Given the description of an element on the screen output the (x, y) to click on. 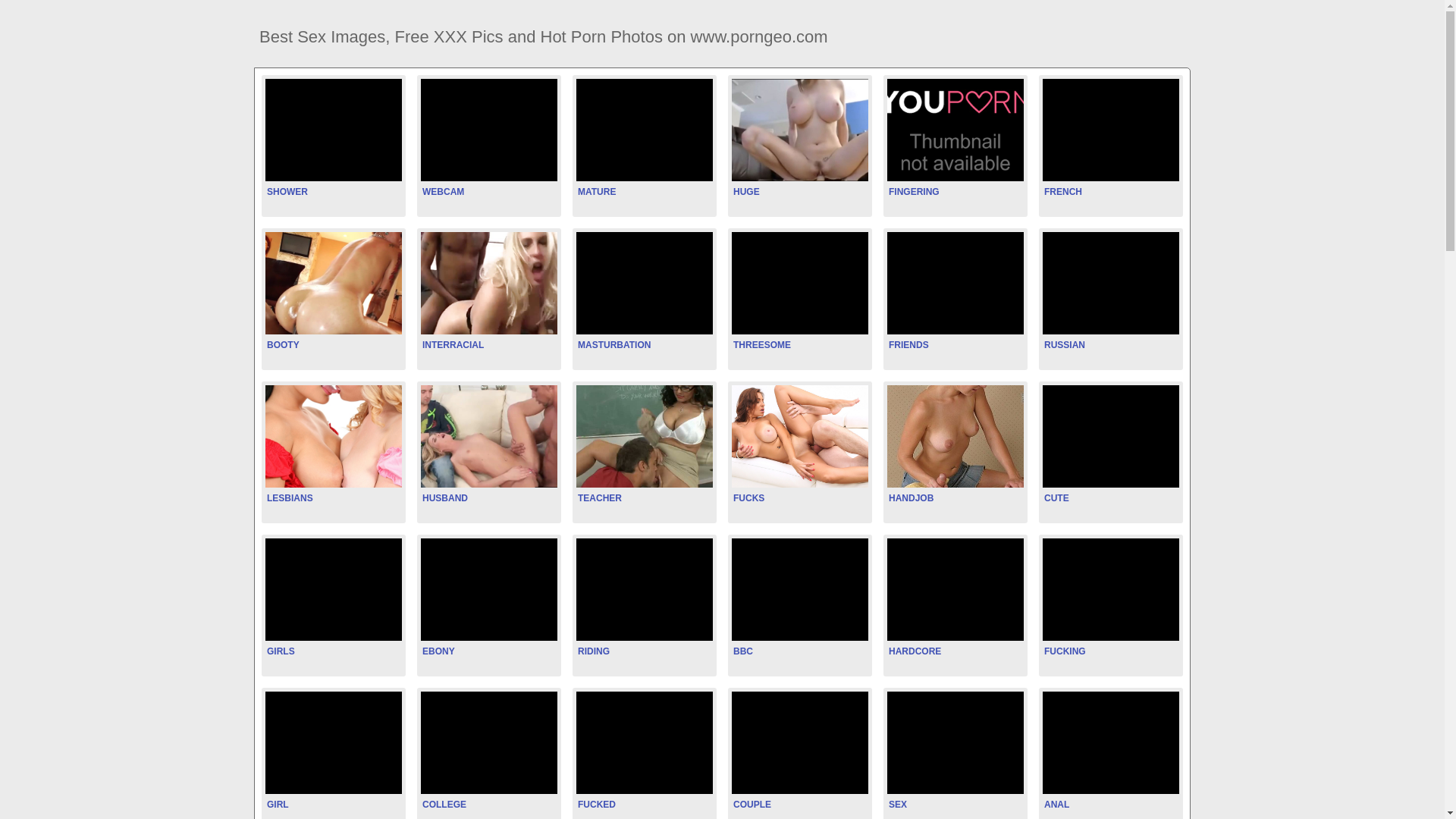
FRENCH Element type: text (1110, 142)
THREESOME Element type: text (799, 296)
HARDCORE Element type: text (955, 602)
FRIENDS Element type: text (955, 296)
WEBCAM Element type: text (488, 142)
FINGERING Element type: text (955, 142)
FUCKS Element type: text (799, 449)
TEACHER Element type: text (644, 449)
RIDING Element type: text (644, 602)
SHOWER Element type: text (333, 142)
HUGE Element type: text (799, 142)
GIRLS Element type: text (333, 602)
LESBIANS Element type: text (333, 449)
BOOTY Element type: text (333, 296)
HUSBAND Element type: text (488, 449)
BBC Element type: text (799, 602)
INTERRACIAL Element type: text (488, 296)
EBONY Element type: text (488, 602)
MASTURBATION Element type: text (644, 296)
RUSSIAN Element type: text (1110, 296)
FUCKING Element type: text (1110, 602)
CUTE Element type: text (1110, 449)
HANDJOB Element type: text (955, 449)
MATURE Element type: text (644, 142)
